Given the description of an element on the screen output the (x, y) to click on. 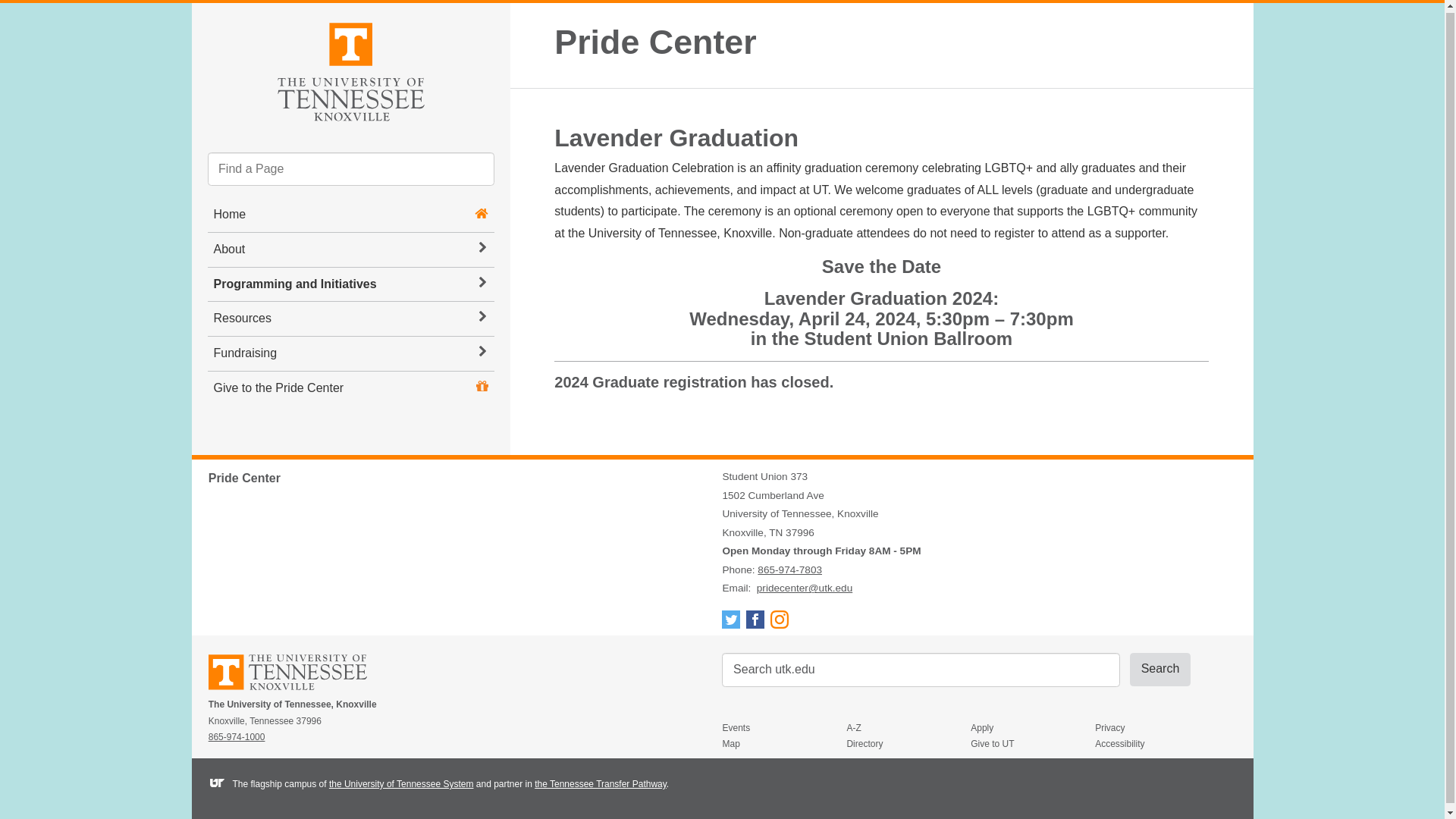
Submit (1160, 669)
The University of Tennessee, Knoxville (349, 69)
Pride Center (654, 41)
Pride Center (654, 41)
Home (230, 214)
Resources (351, 318)
search (920, 669)
Skip to content (204, 15)
Skip to content (204, 15)
865-974-7803 (789, 569)
Give to the Pride Center (278, 387)
Search utk.edu (920, 669)
Programming and Initiatives (351, 284)
